Given the description of an element on the screen output the (x, y) to click on. 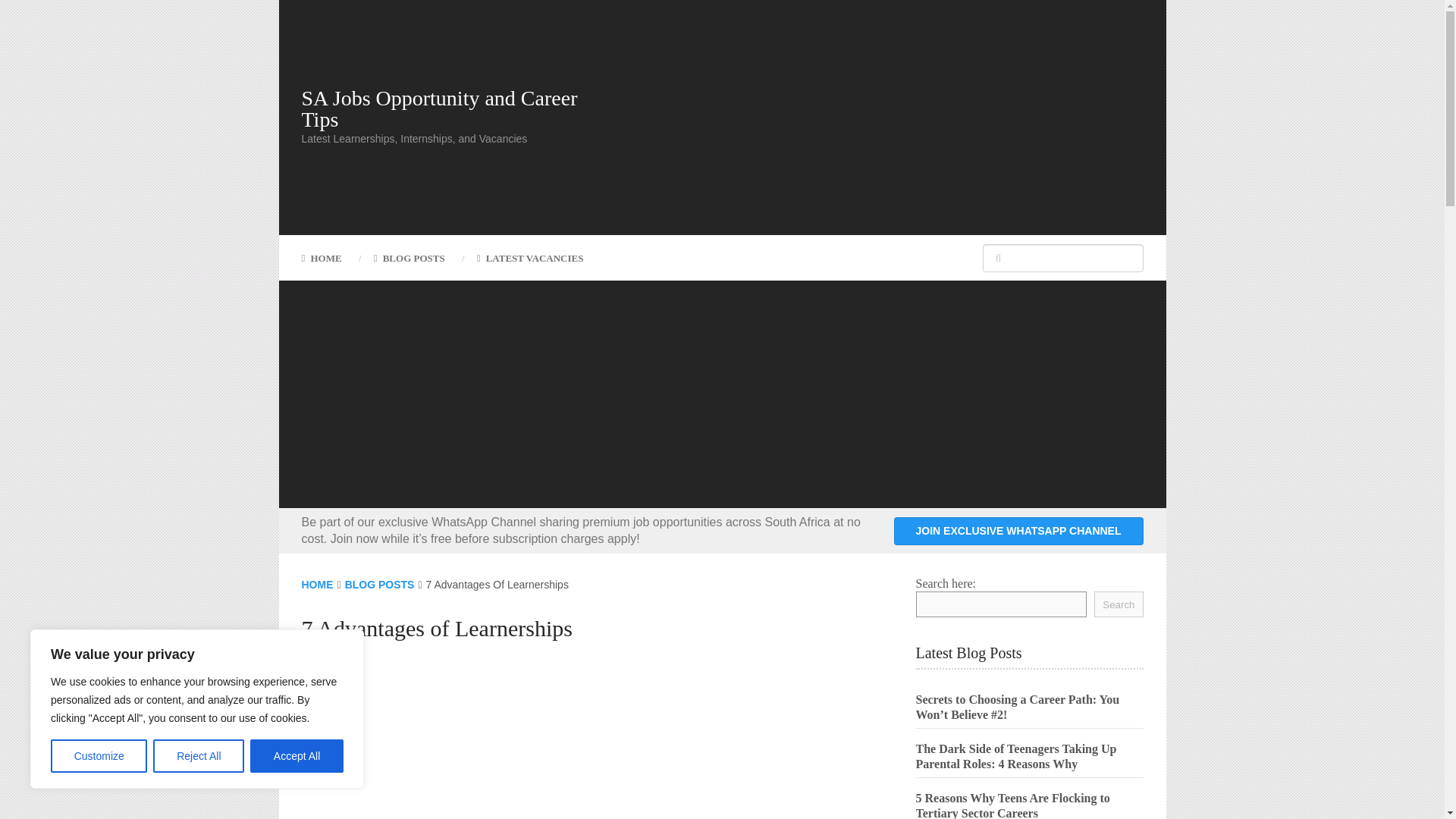
BLOG POSTS (379, 584)
HOME (317, 584)
Advertisement (862, 117)
HOME (329, 257)
Join Exclusive WhatsApp Channel  (1017, 530)
JOIN EXCLUSIVE WHATSAPP CHANNEL (1017, 530)
Search (1118, 604)
Advertisement (577, 394)
Reject All (198, 756)
Advertisement (578, 744)
